Given the description of an element on the screen output the (x, y) to click on. 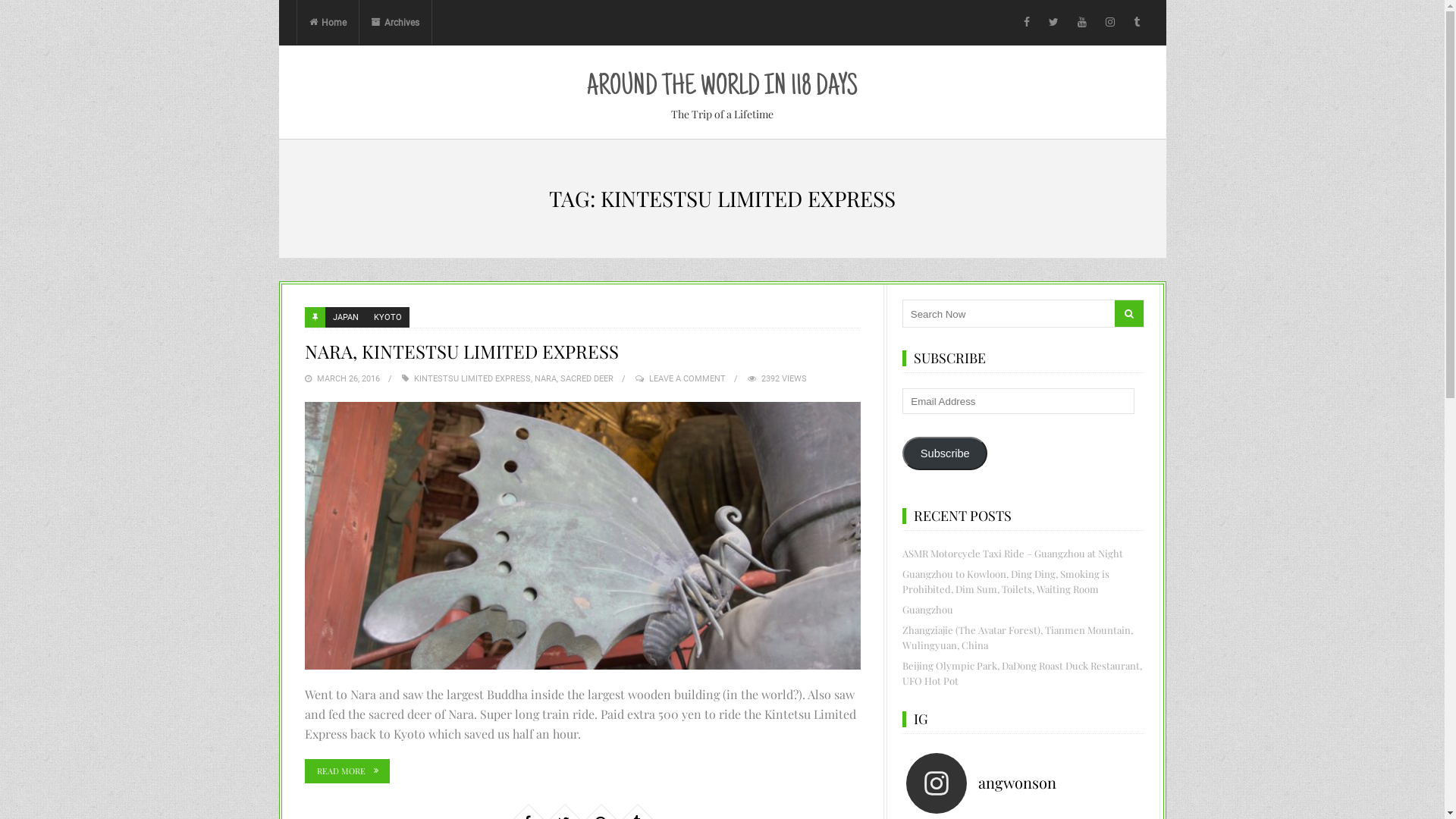
KINTESTSU LIMITED EXPRESS Element type: text (472, 378)
AROUND THE WORLD IN 118 DAYS Element type: text (721, 87)
Nara, Kintestsu Limited Express Element type: hover (582, 535)
tumblr Element type: text (1136, 22)
Home Element type: text (327, 22)
KYOTO Element type: text (386, 317)
SACRED DEER Element type: text (585, 378)
READ MORE Element type: text (346, 771)
Subscribe Element type: text (944, 453)
Guangzhou Element type: text (927, 608)
JAPAN Element type: text (344, 317)
NARA, KINTESTSU LIMITED EXPRESS Element type: text (461, 350)
twitter Element type: text (1053, 22)
youtube Element type: text (1082, 22)
instagram Element type: text (1110, 22)
facebook Element type: text (1026, 22)
angwonson Element type: text (1027, 783)
NARA Element type: text (544, 378)
Search Element type: text (1128, 313)
LEAVE A COMMENT Element type: text (687, 378)
Archives Element type: text (395, 22)
MARCH 26, 2016 Element type: text (347, 378)
